Given the description of an element on the screen output the (x, y) to click on. 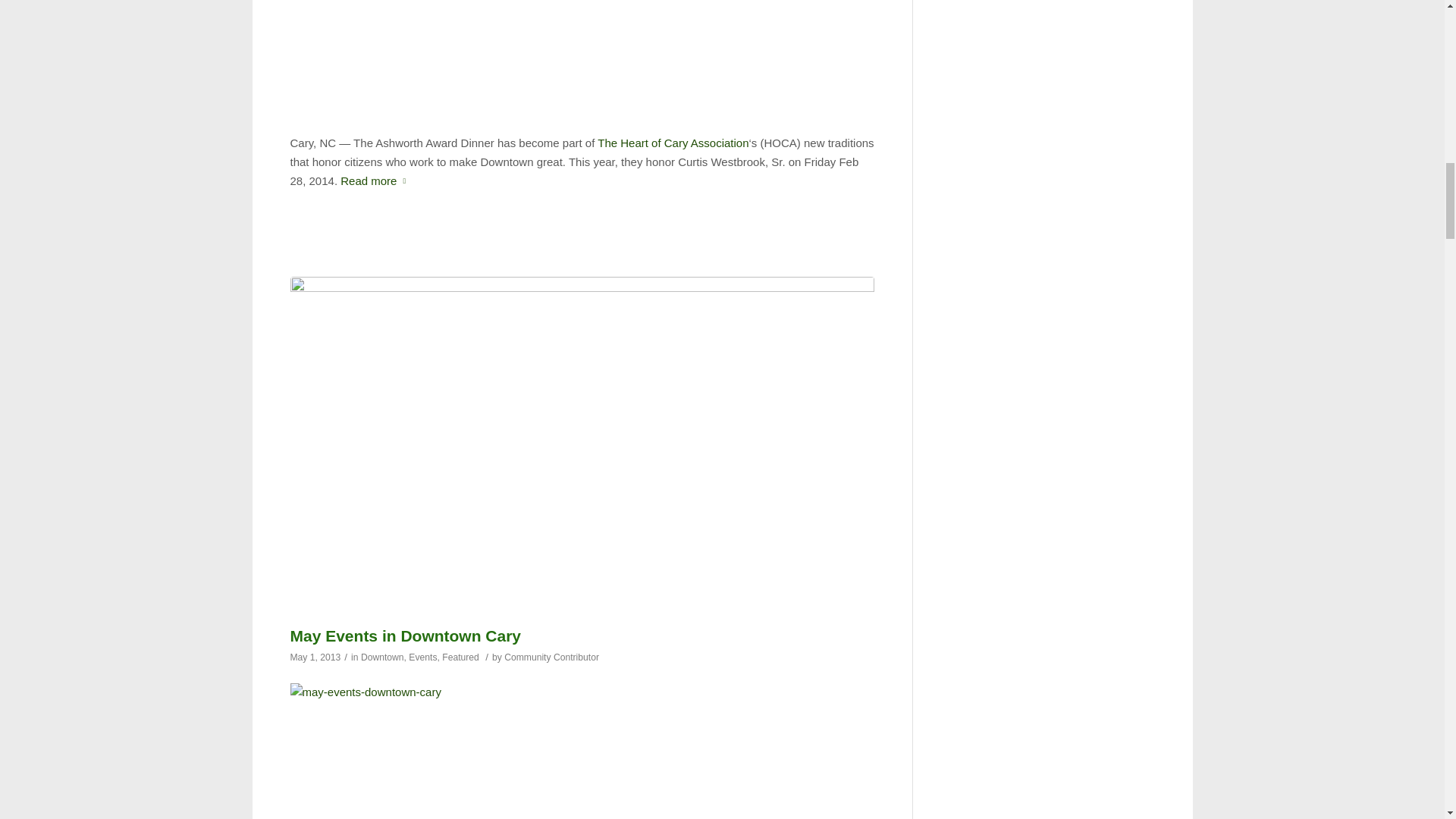
Heart of Cary Association website (672, 142)
Permanent Link: May Events in Downtown Cary (405, 635)
